Given the description of an element on the screen output the (x, y) to click on. 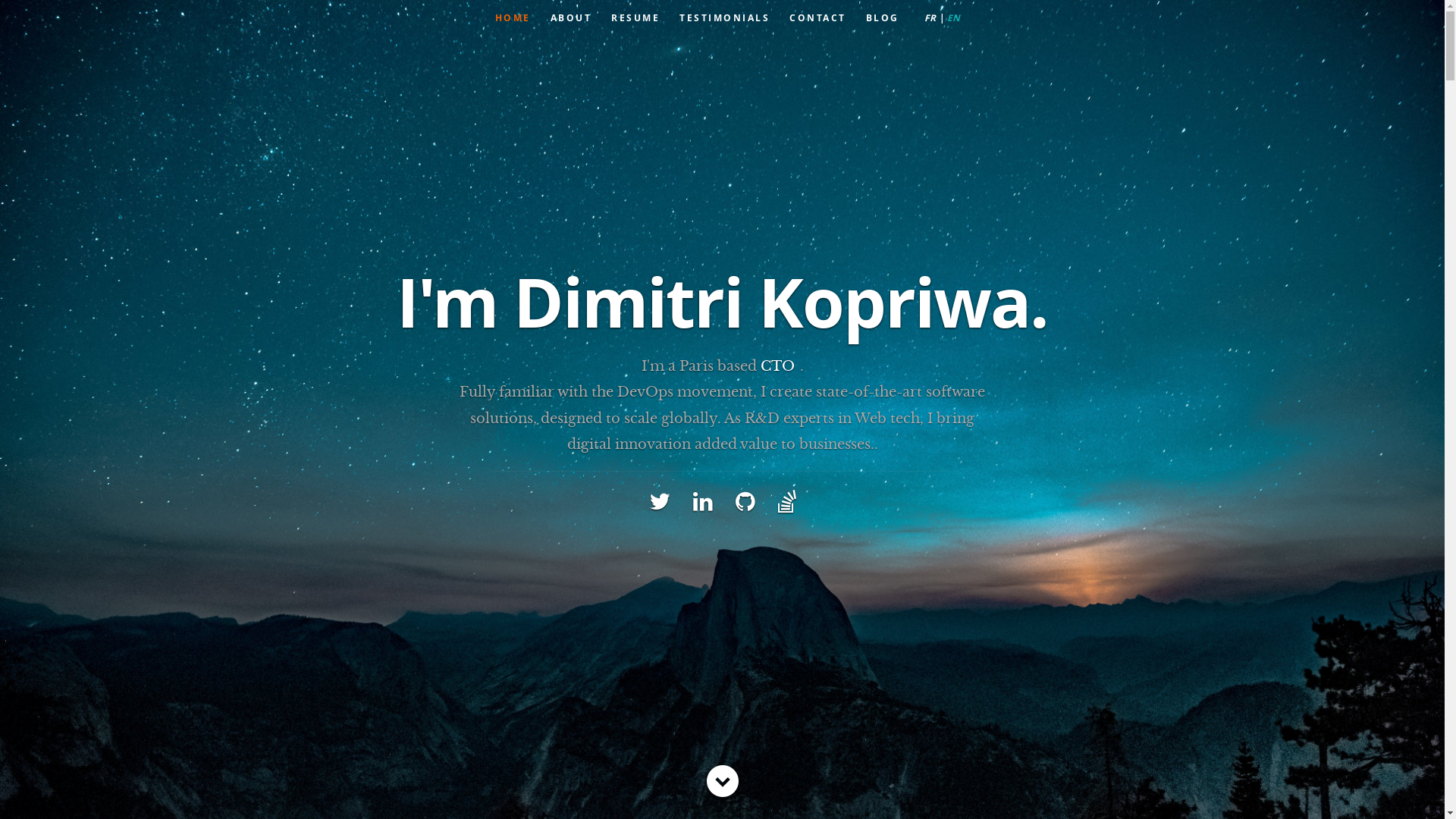
CONTACT Element type: text (817, 18)
HOME Element type: text (512, 18)
RESUME Element type: text (635, 18)
EN Element type: text (952, 18)
BLOG Element type: text (881, 18)
FR Element type: text (934, 18)
TESTIMONIALS Element type: text (724, 18)
ABOUT Element type: text (570, 18)
